Given the description of an element on the screen output the (x, y) to click on. 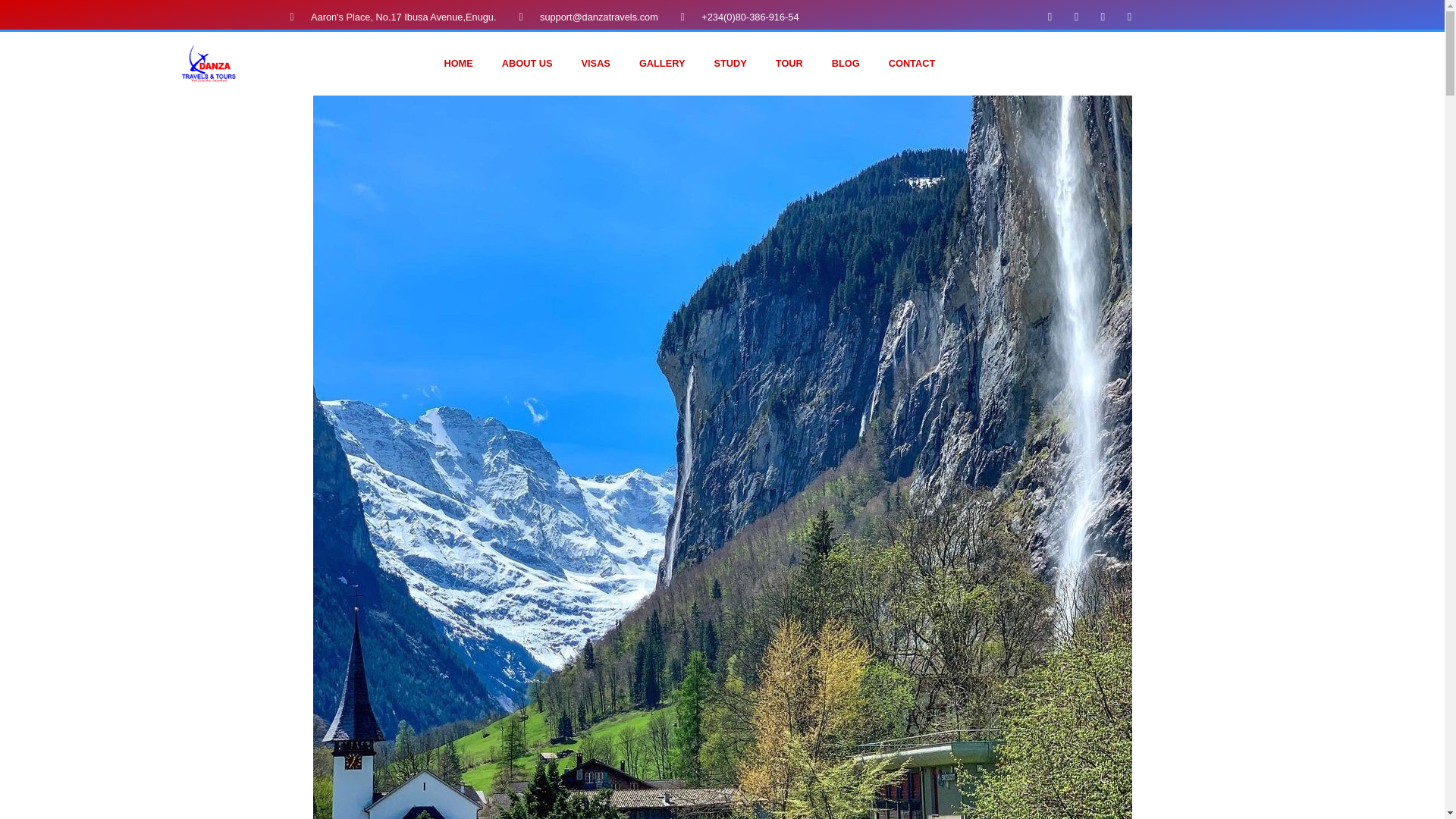
HOME (457, 63)
STUDY (729, 63)
CONTACT (912, 63)
ABOUT US (527, 63)
TOUR (788, 63)
VISAS (595, 63)
GALLERY (662, 63)
BLOG (845, 63)
